Given the description of an element on the screen output the (x, y) to click on. 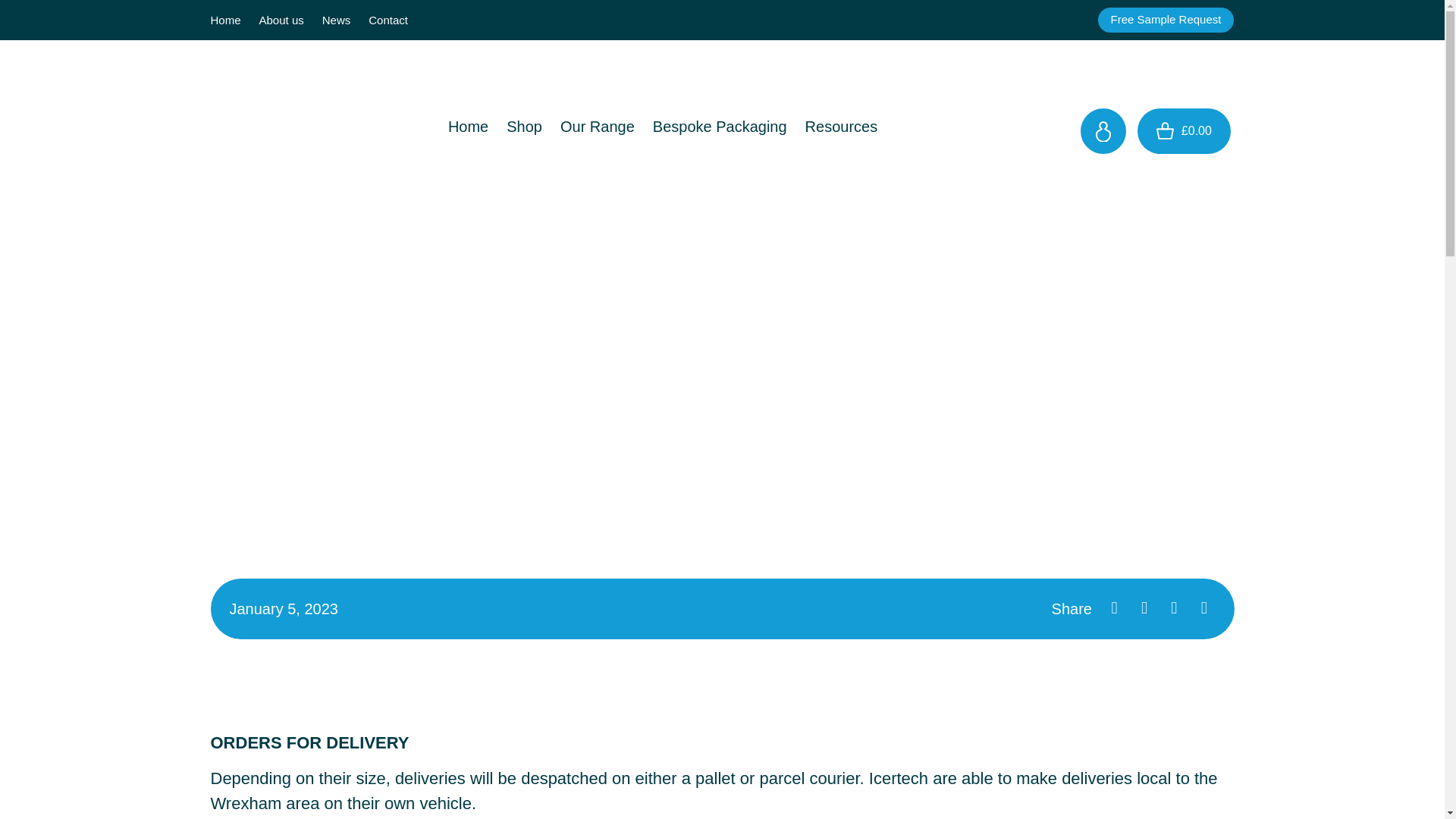
Home (226, 19)
Our Range (597, 123)
Free Sample Request (1165, 19)
Contact (387, 19)
Bespoke Packaging (719, 123)
Shop (524, 123)
Resources (841, 123)
News (335, 19)
Home (468, 123)
About us (281, 19)
